Given the description of an element on the screen output the (x, y) to click on. 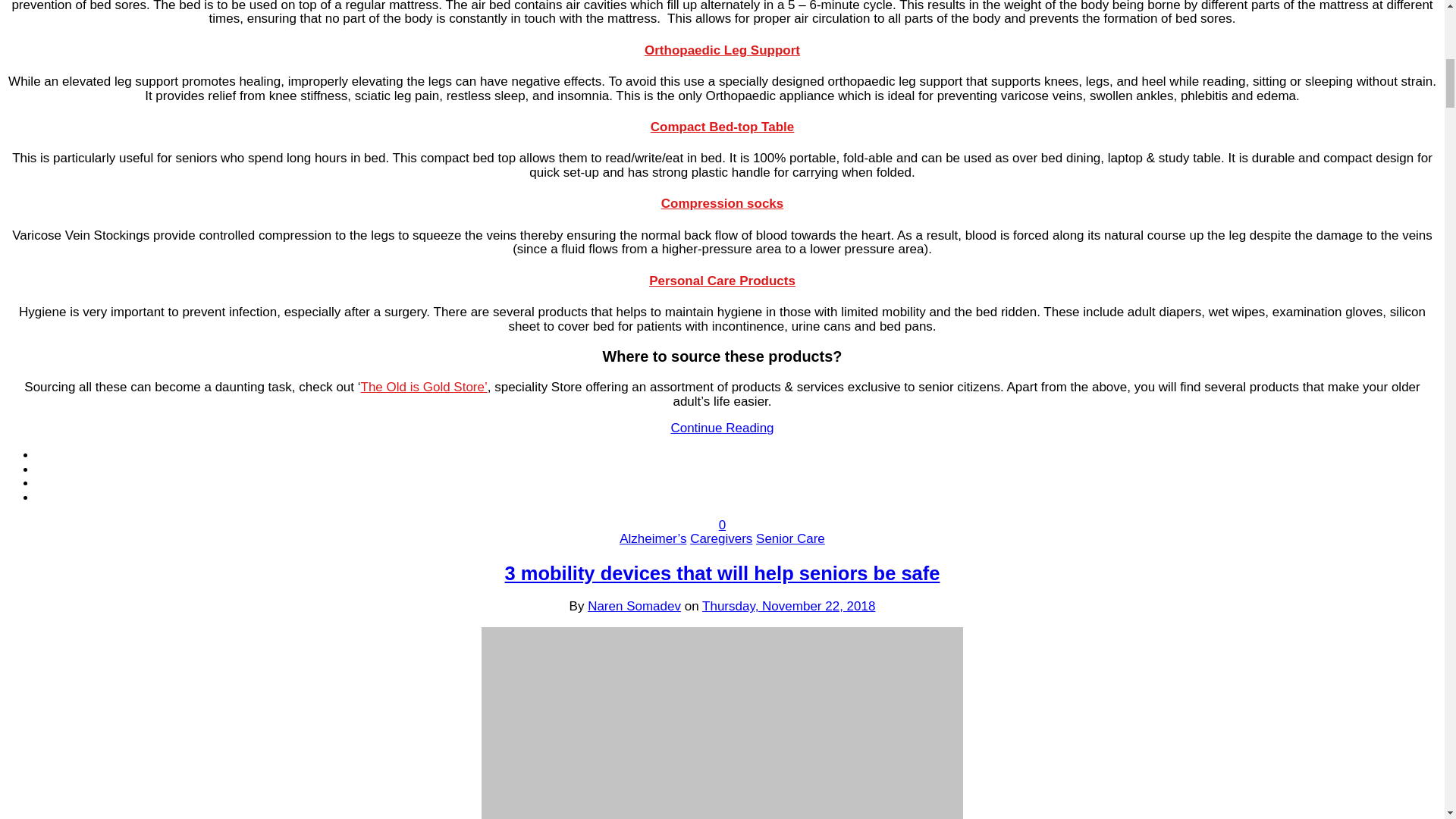
Continue Reading (721, 427)
Personal Care Products (721, 280)
Compression socks (722, 203)
7 Ways to Help the Elderly Recover from Surgery (721, 427)
Compact Bed-top Table (722, 126)
Orthopaedic Leg Support (722, 50)
Senior Care (790, 538)
Caregivers (721, 538)
3 mobility devices that will help seniors be safe (722, 572)
Thursday, November 22, 2018 (788, 605)
